Given the description of an element on the screen output the (x, y) to click on. 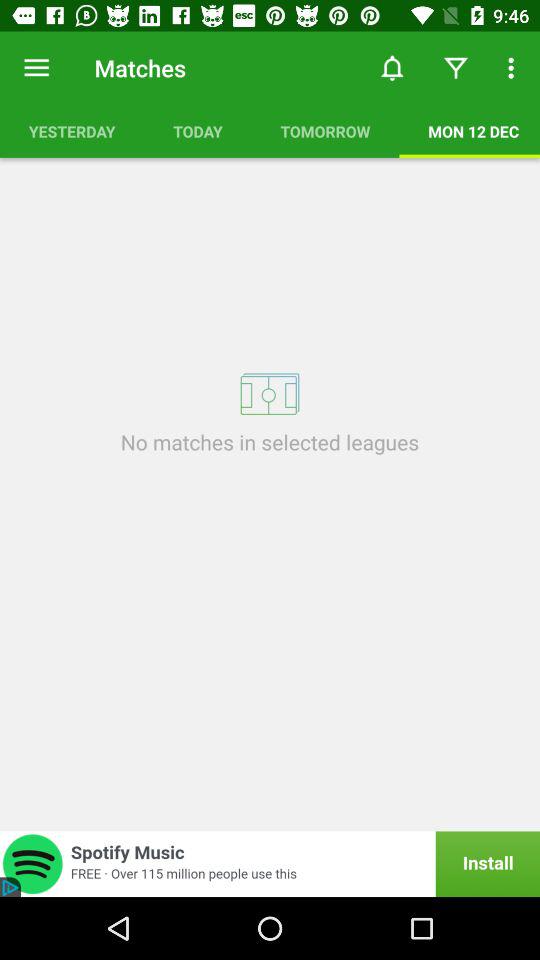
swipe to today icon (197, 131)
